Given the description of an element on the screen output the (x, y) to click on. 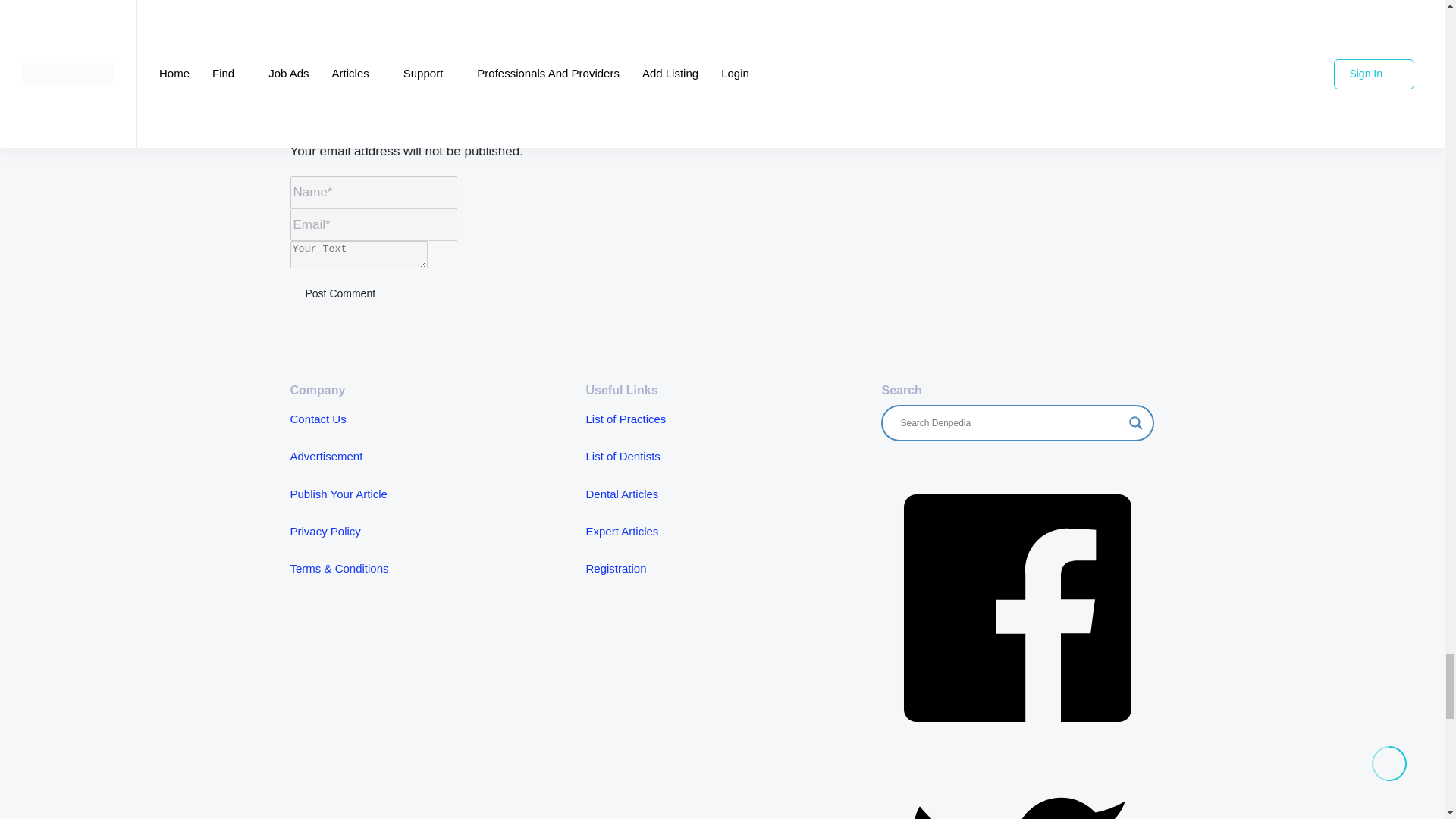
Post Comment (339, 294)
